Given the description of an element on the screen output the (x, y) to click on. 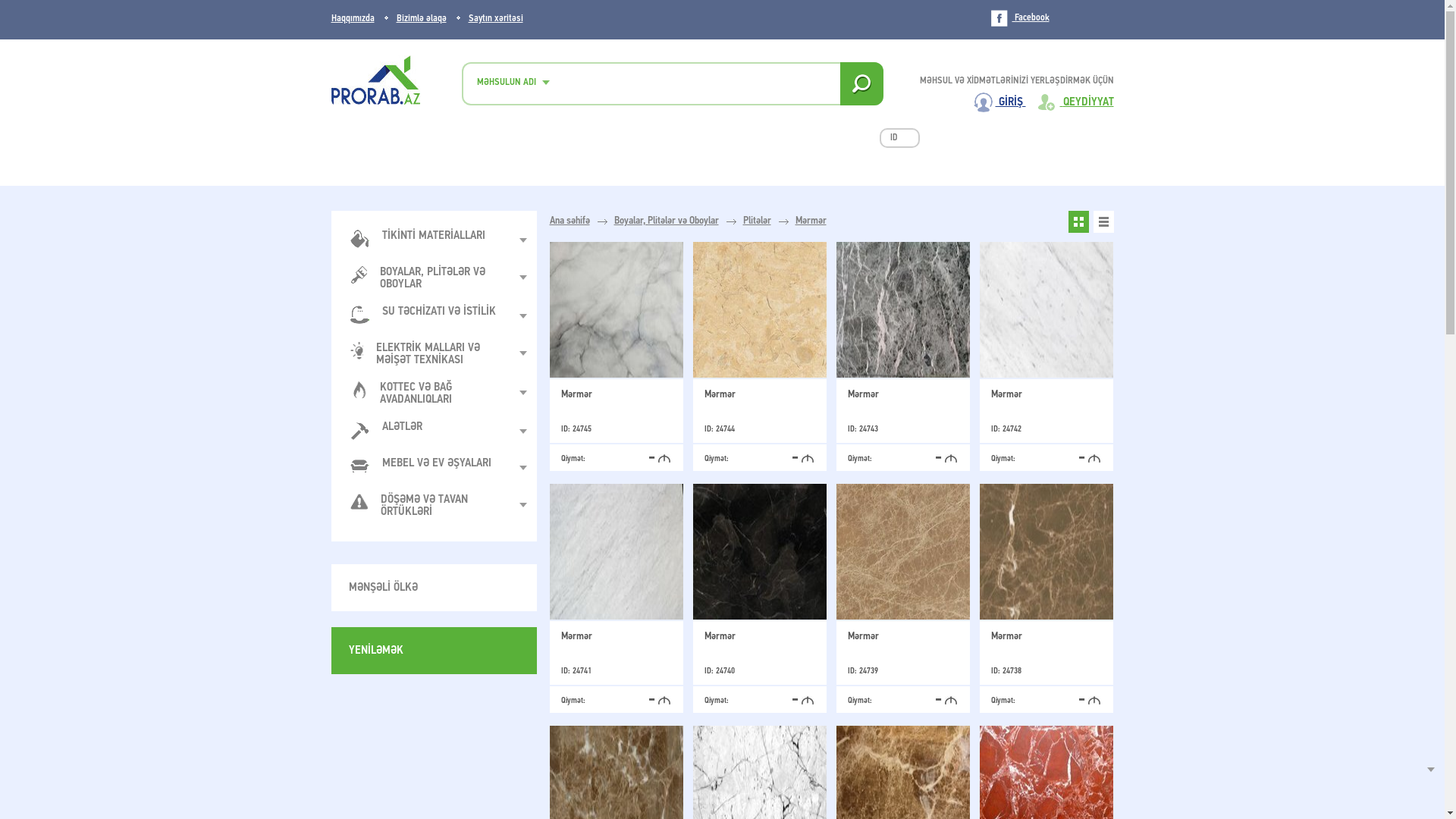
TIKINTI MATERIALLARI Element type: text (429, 238)
Facebook Element type: text (1019, 17)
RUS Element type: text (1106, 44)
>> Element type: text (896, 137)
AZE Element type: text (1078, 44)
